Given the description of an element on the screen output the (x, y) to click on. 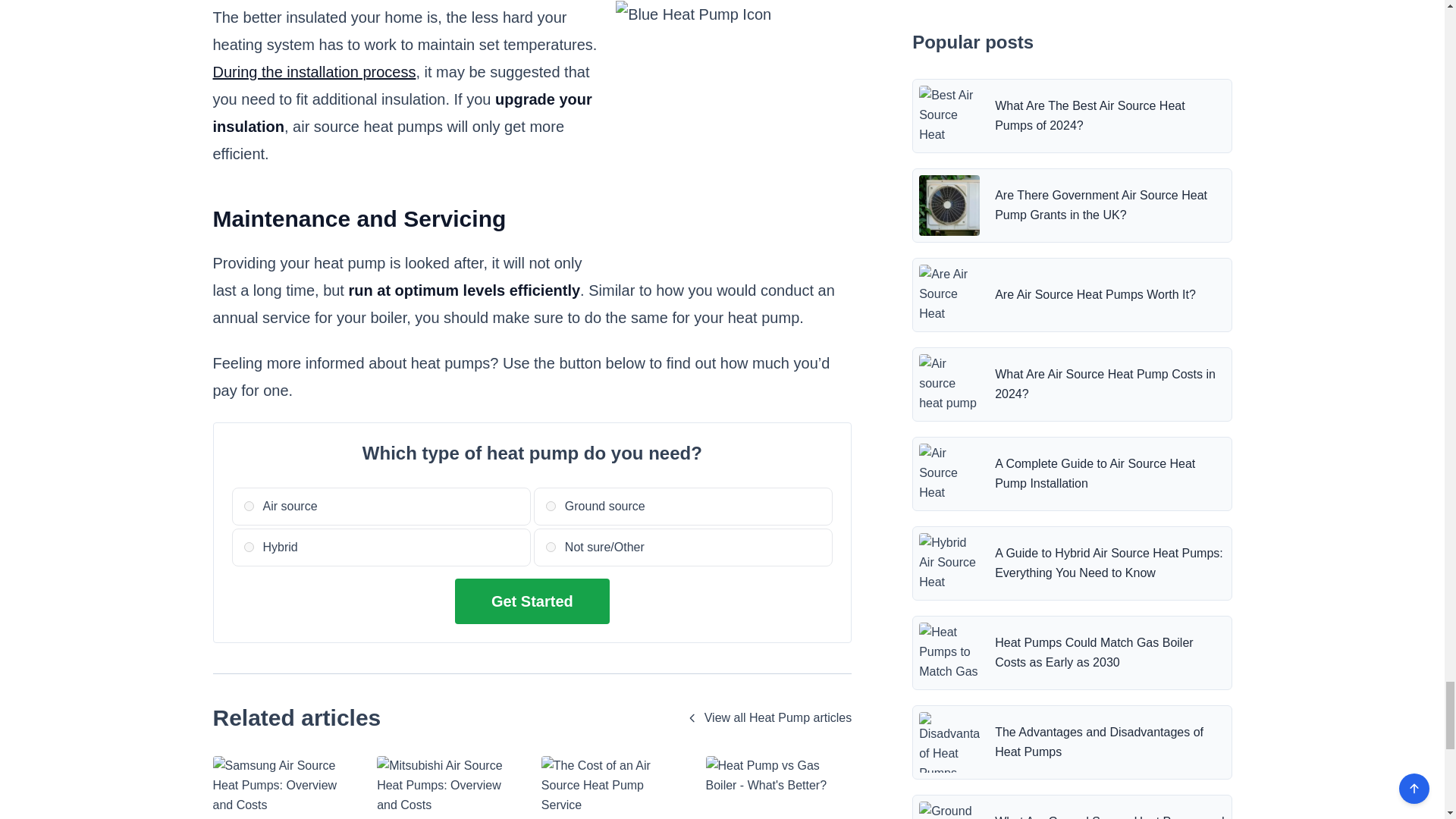
on (248, 506)
on (551, 506)
on (248, 547)
on (551, 547)
